Given the description of an element on the screen output the (x, y) to click on. 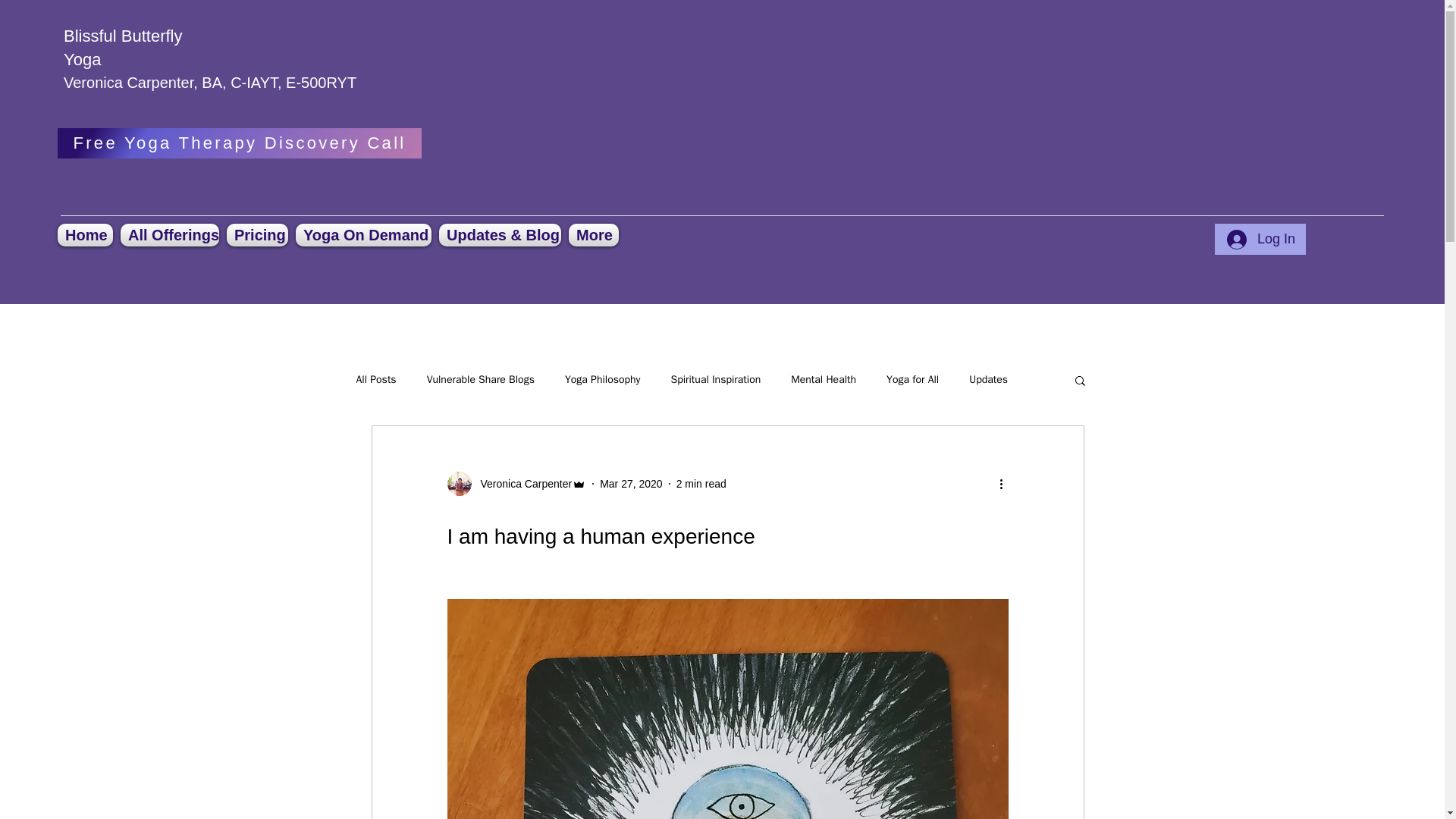
Yoga for All (912, 379)
Free Yoga Therapy Discovery Call (240, 142)
Blissful Butterfly Yoga (123, 47)
2 min read (701, 483)
Vulnerable Share Blogs (480, 379)
Home (87, 234)
Mental Health (823, 379)
Veronica Carpenter (516, 483)
Log In (1260, 239)
Veronica Carpenter (521, 483)
